Given the description of an element on the screen output the (x, y) to click on. 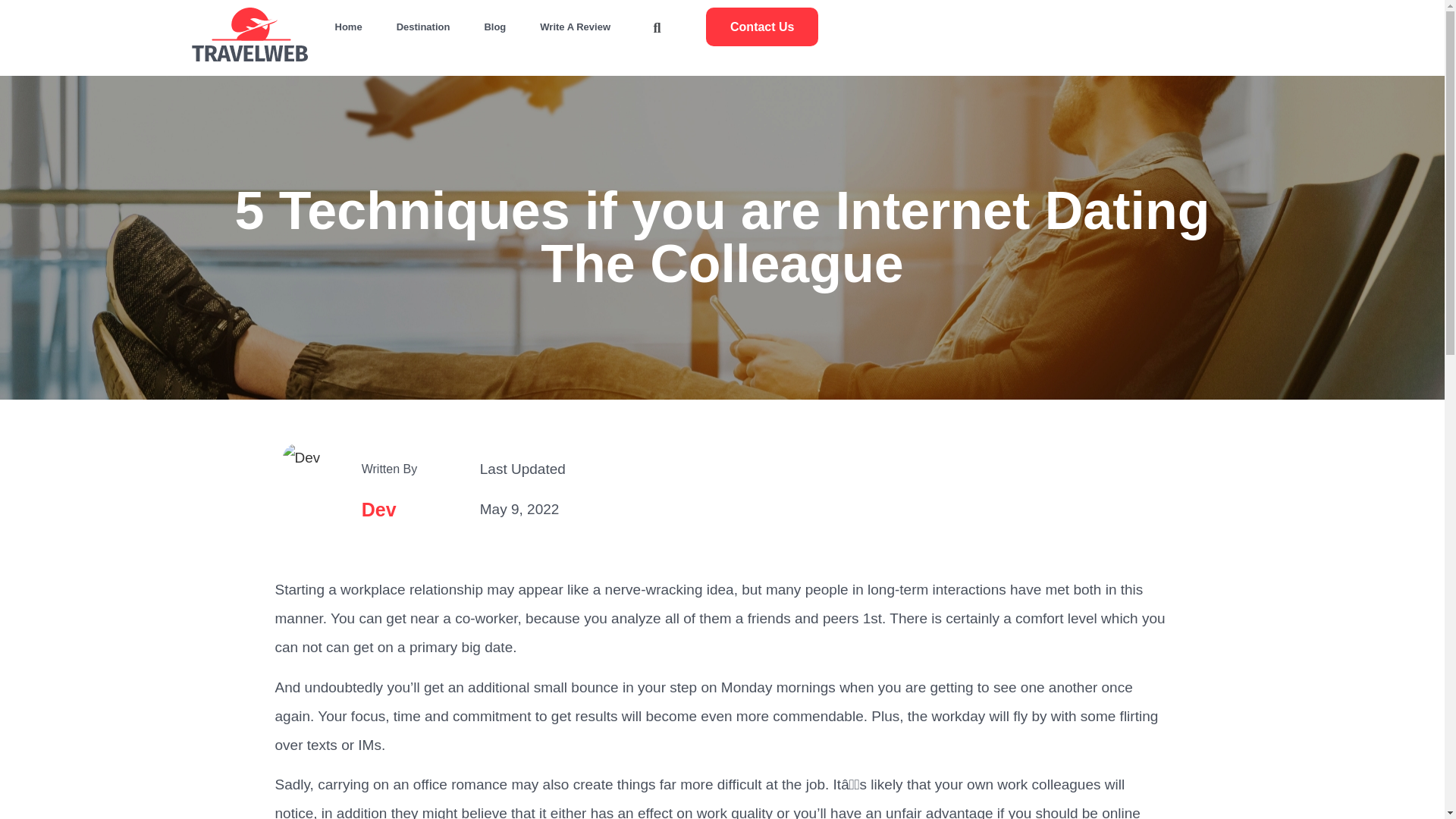
Search (489, 209)
Blog (494, 27)
May 9, 2022 (519, 509)
Home (348, 27)
Contact Us (762, 26)
Destination (422, 27)
Write A Review (575, 27)
